Given the description of an element on the screen output the (x, y) to click on. 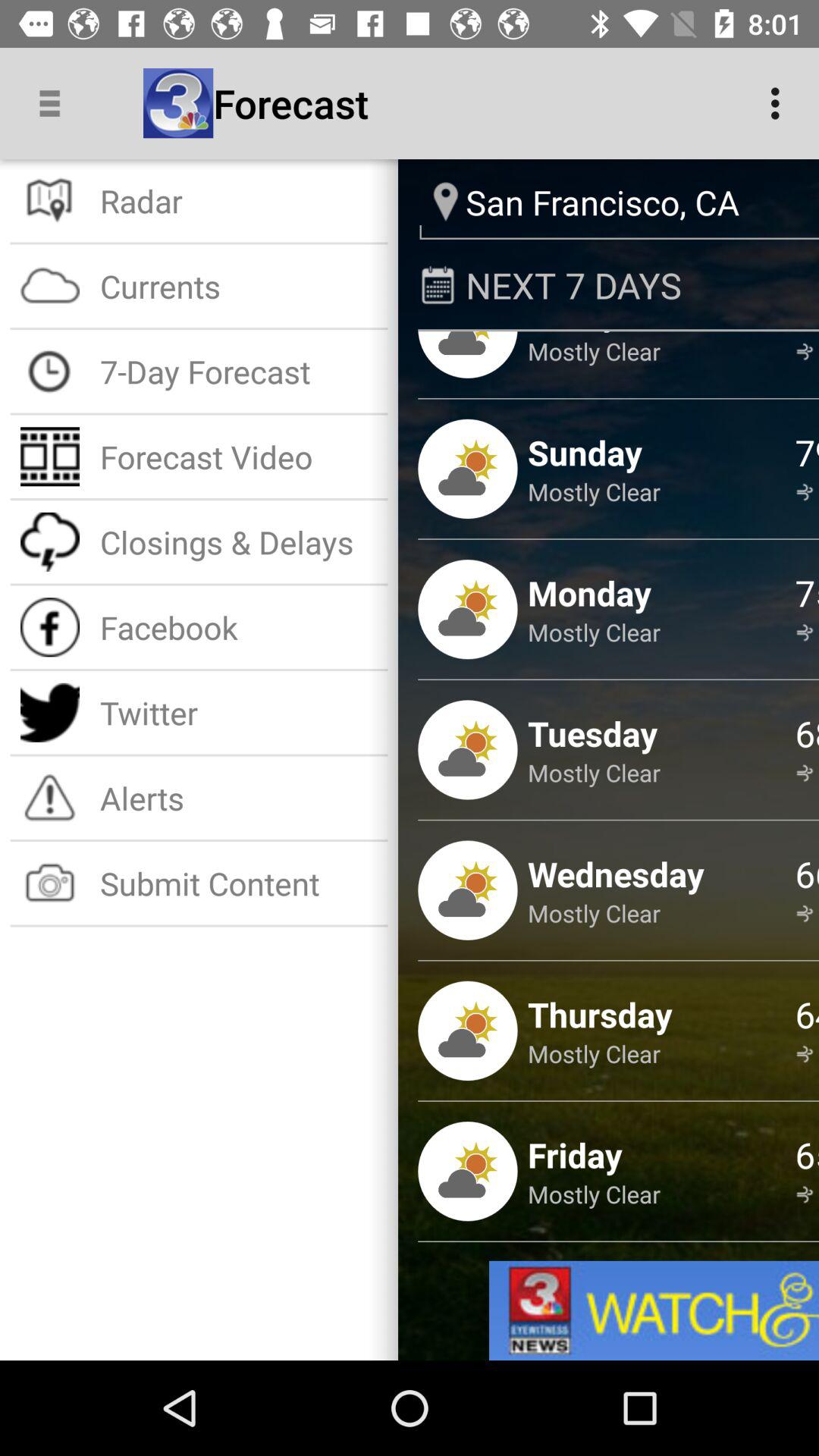
content selection (654, 1310)
